Given the description of an element on the screen output the (x, y) to click on. 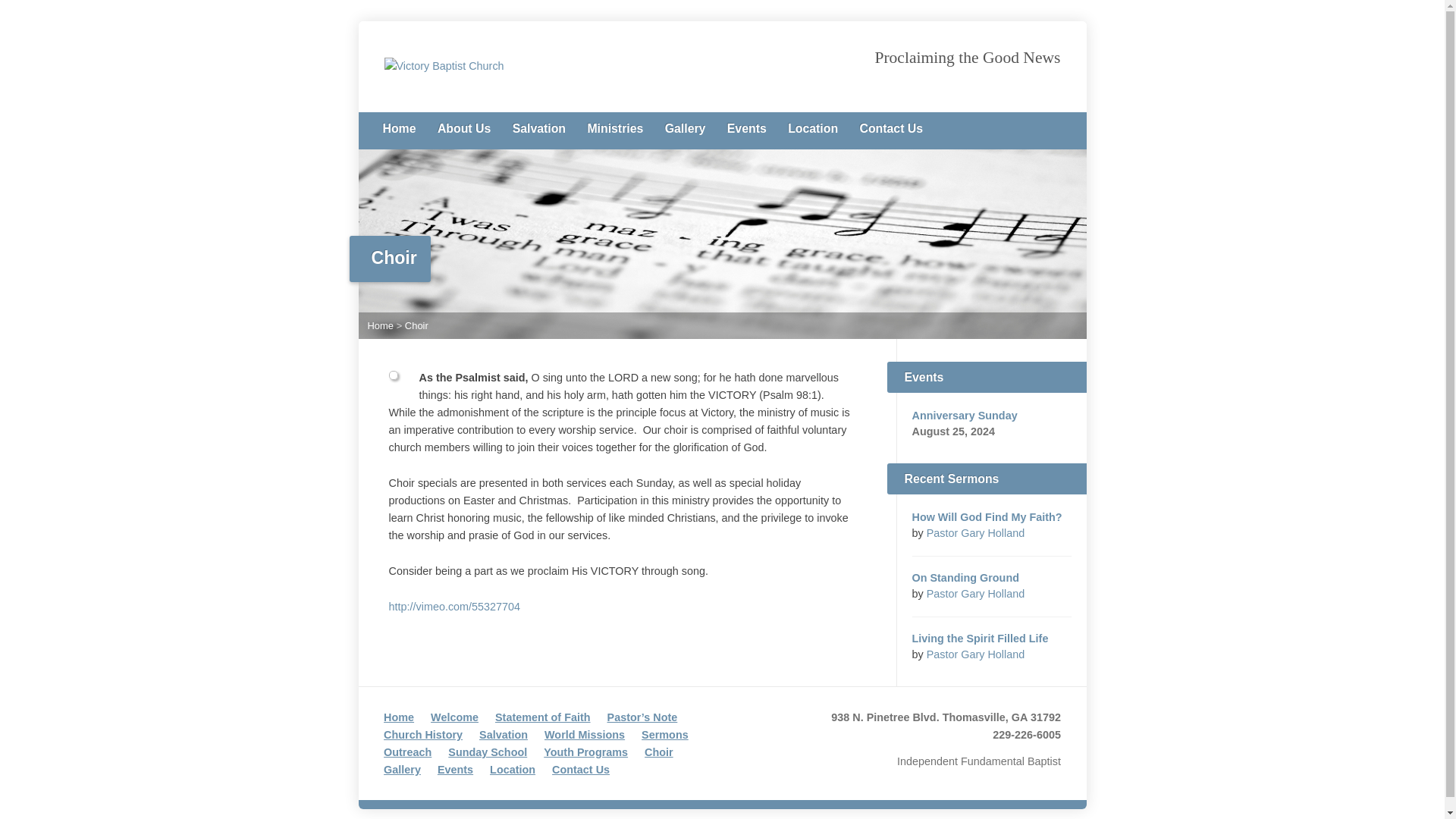
Pastor Gary Holland (975, 593)
Ministries (614, 128)
Pastor Gary Holland (975, 654)
Gallery (685, 128)
Living the Spirit Filled Life (979, 638)
Home (397, 128)
World Missions (584, 734)
choir (392, 375)
How Will God Find My Faith? (986, 517)
Church History (423, 734)
